Given the description of an element on the screen output the (x, y) to click on. 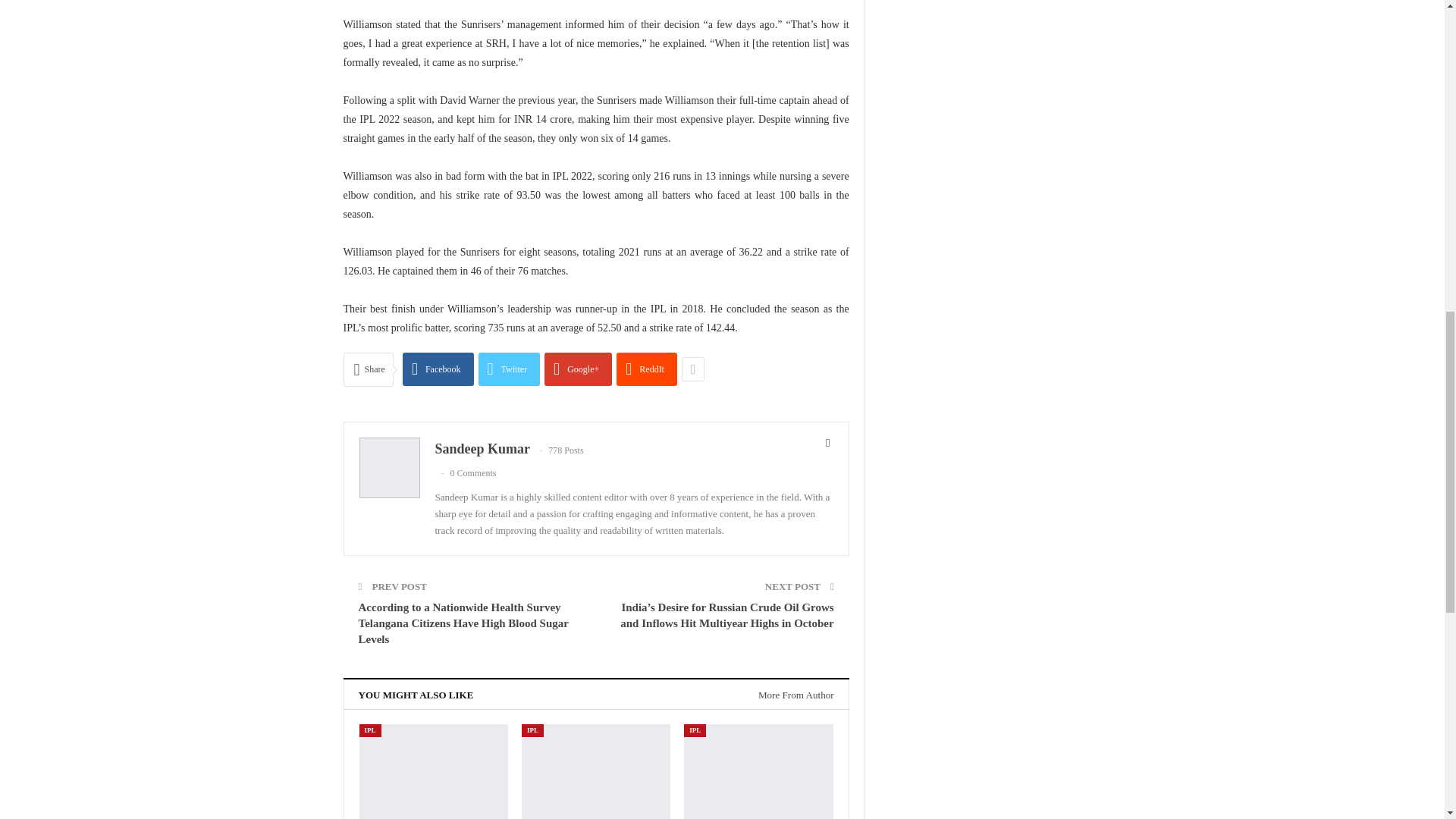
Facebook (438, 368)
Twitter (509, 368)
ReddIt (646, 368)
Sandeep Kumar (482, 448)
